Given the description of an element on the screen output the (x, y) to click on. 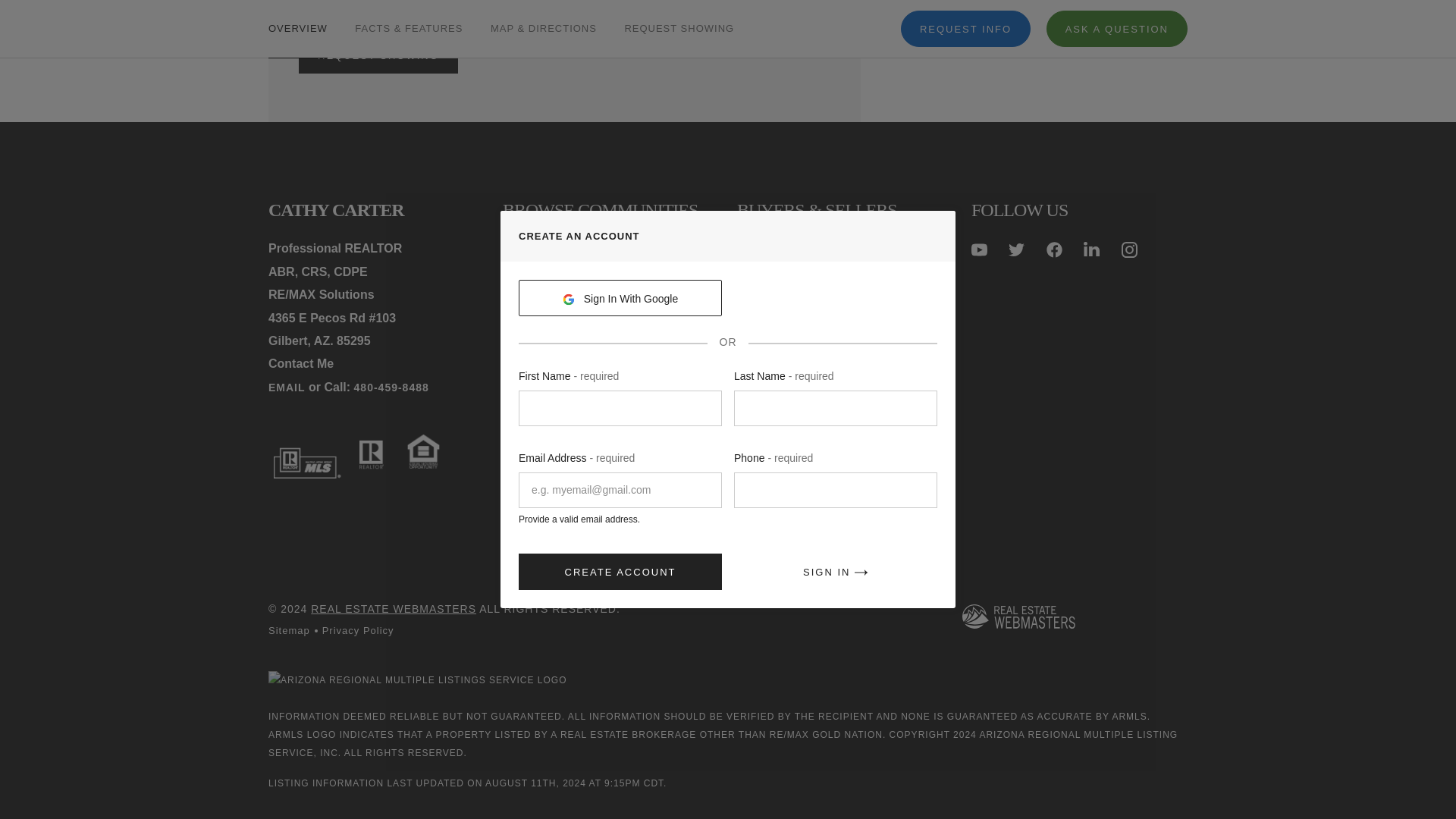
YOUTUBE (979, 249)
FACEBOOK (1054, 249)
TWITTER (1017, 249)
LINKEDIN (1091, 249)
